Given the description of an element on the screen output the (x, y) to click on. 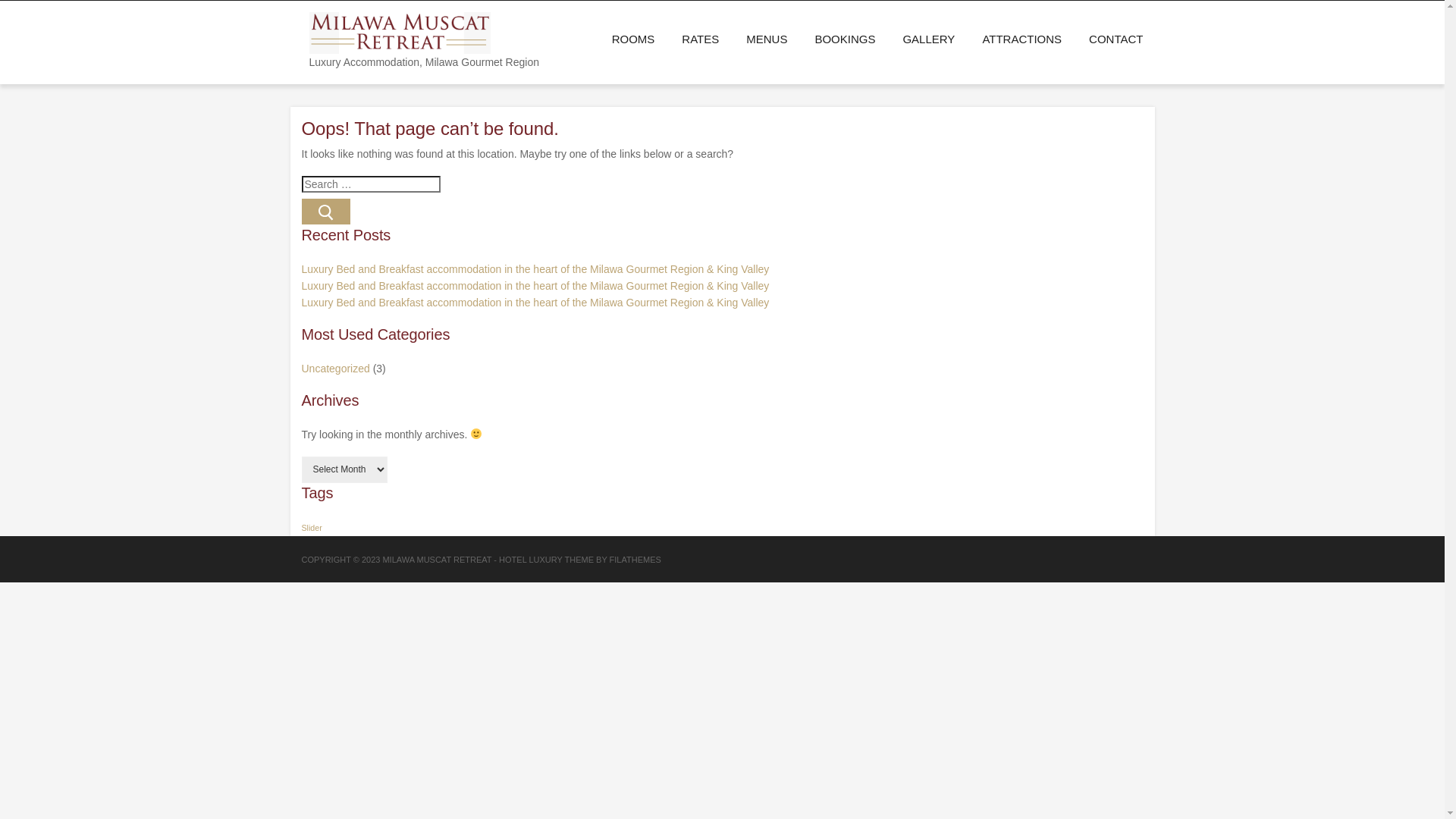
ROOMS Element type: text (633, 39)
Slider Element type: text (311, 527)
Uncategorized Element type: text (335, 368)
ATTRACTIONS Element type: text (1021, 39)
MENUS Element type: text (766, 39)
MILAWA MUSCAT RETREAT Element type: text (436, 559)
GALLERY Element type: text (928, 39)
CONTACT Element type: text (1108, 39)
Skip to content Element type: text (0, 0)
BOOKINGS Element type: text (844, 39)
HOTEL LUXURY Element type: text (530, 559)
RATES Element type: text (700, 39)
Search for: Element type: hover (370, 183)
